Given the description of an element on the screen output the (x, y) to click on. 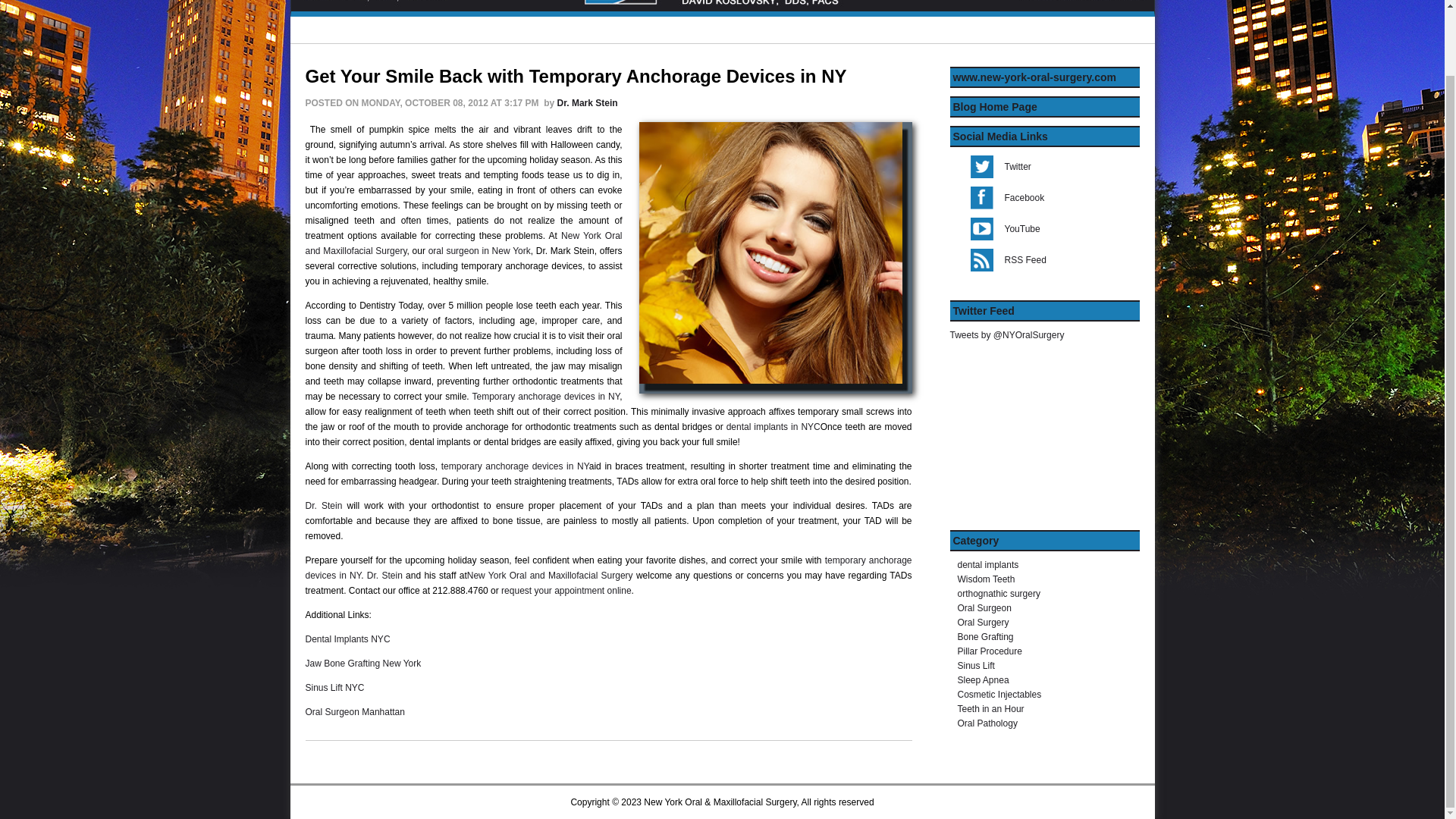
Oral Surgery (982, 622)
Twitter (1043, 167)
Dr. Stein (384, 575)
Sinus Lift NYC (335, 687)
Blog Home Page (994, 106)
Dr. Stein (323, 505)
Oral Surgeon Manhattan (354, 711)
request your appointment online (565, 590)
Oral Pathology (986, 723)
temporary anchorage devices in NY (607, 567)
Sleep Apnea (982, 679)
RSS Feed (1043, 259)
Dr. Mark Stein (587, 102)
orthognathic surgery (997, 593)
Teeth in an Hour (989, 708)
